Given the description of an element on the screen output the (x, y) to click on. 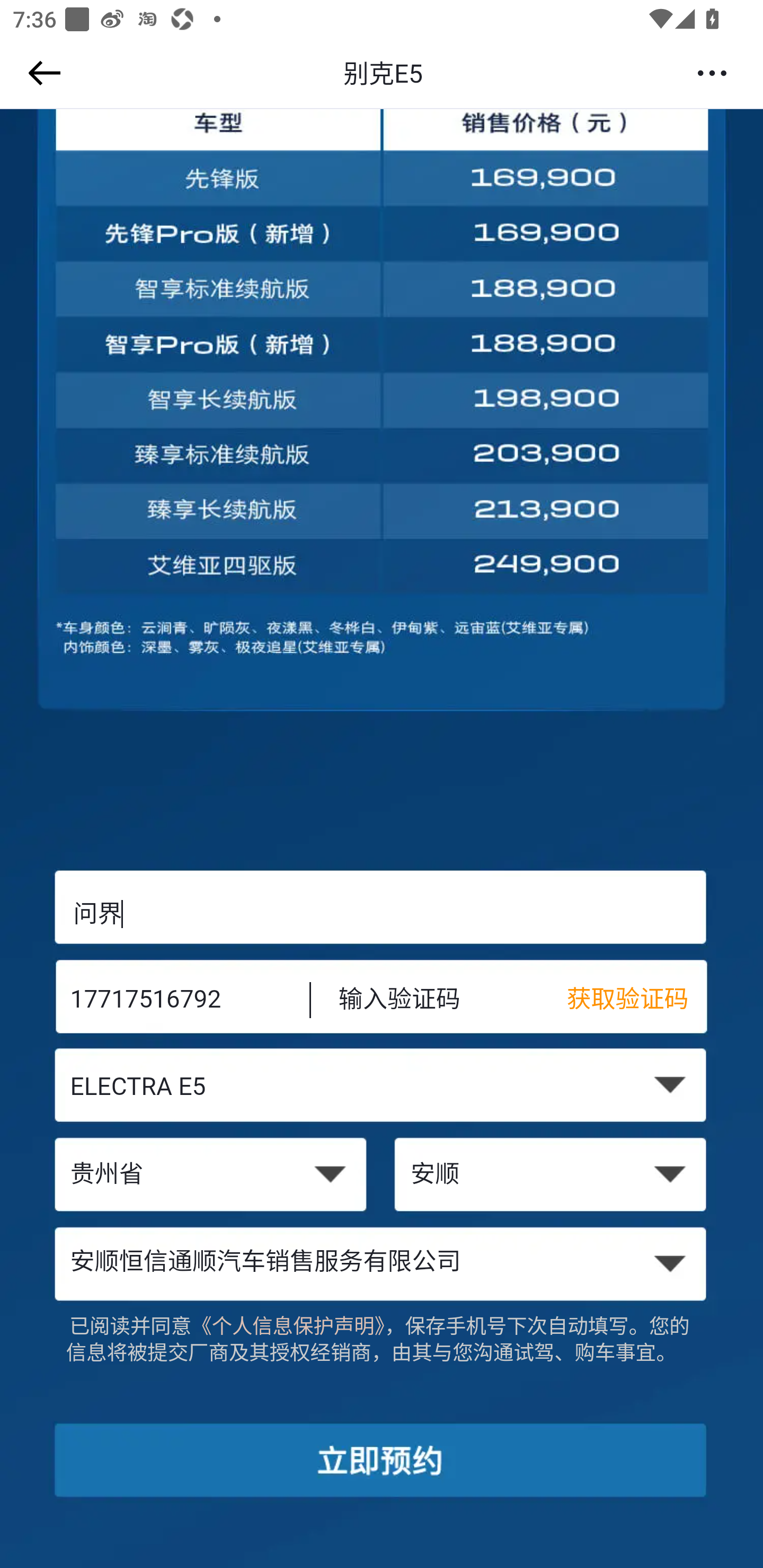
 (41, 72)
问界 (381, 912)
17717516792 (176, 1001)
获取验证码 (637, 1001)
ELECTRA E5 (381, 1088)
贵州省 (210, 1175)
安顺 (552, 1175)
安顺恒信通顺汽车销售服务有限公司 (381, 1262)
